Given the description of an element on the screen output the (x, y) to click on. 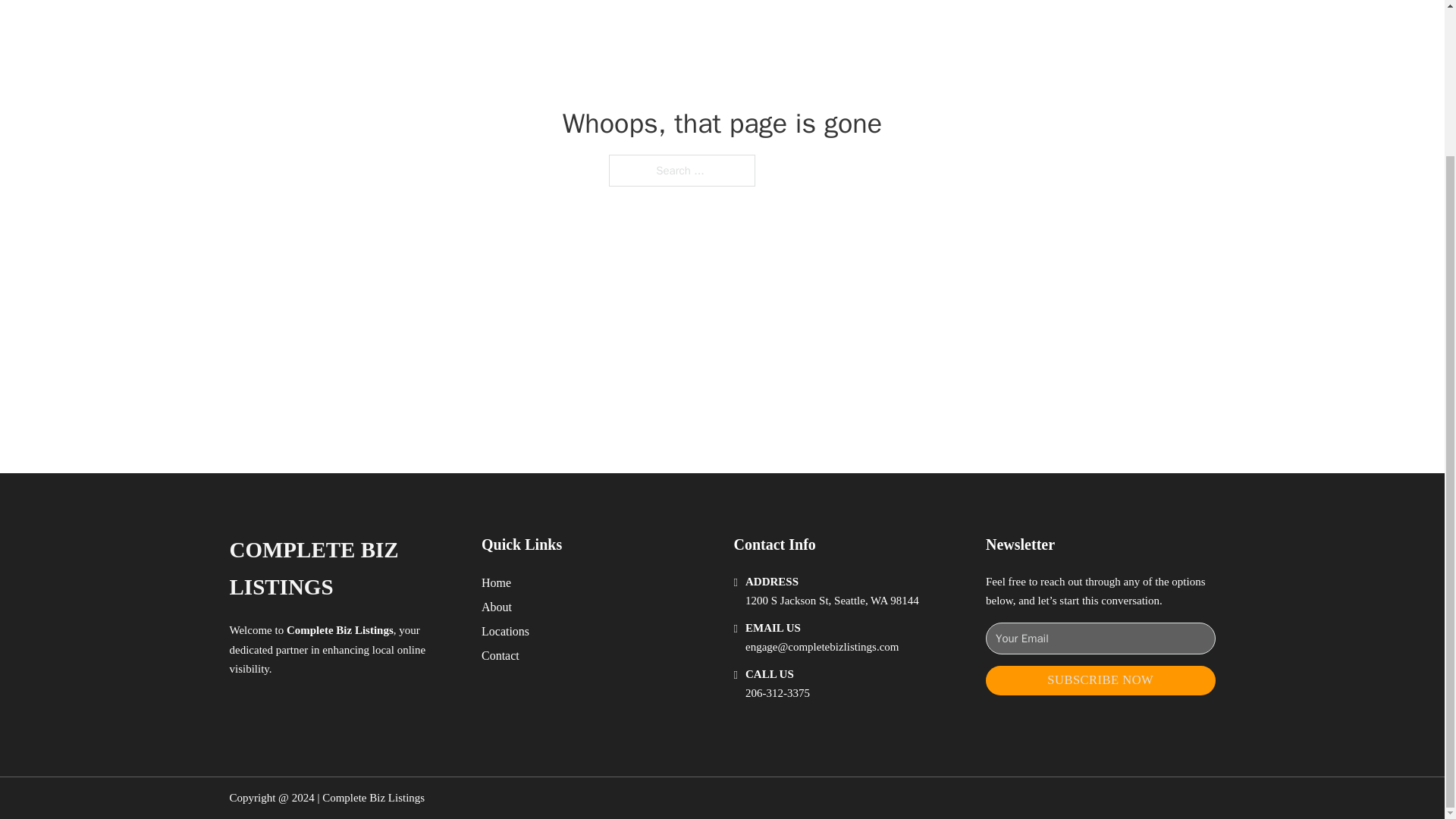
SUBSCRIBE NOW (1100, 680)
About (496, 607)
Locations (505, 630)
206-312-3375 (777, 693)
Contact (500, 655)
Home (496, 582)
COMPLETE BIZ LISTINGS (343, 568)
